Given the description of an element on the screen output the (x, y) to click on. 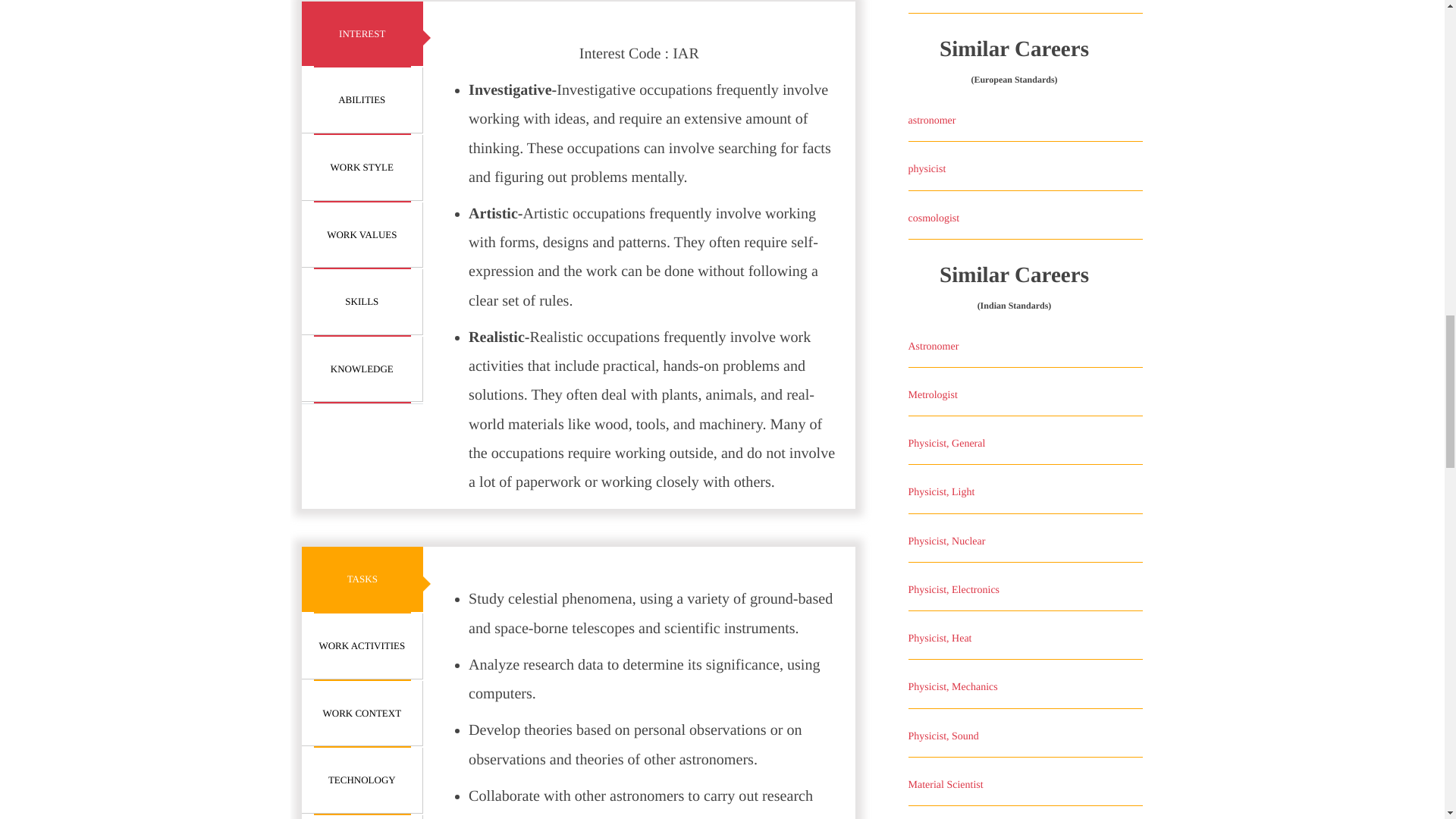
KNOWLEDGE (362, 369)
TASKS (362, 579)
WORK CONTEXT (362, 713)
WORK ACTIVITIES (362, 646)
SKILLS (362, 301)
WORK STYLE (362, 167)
ABILITIES (362, 100)
TOOLS (362, 816)
TECHNOLOGY (362, 780)
WORK VALUES (362, 235)
